Given the description of an element on the screen output the (x, y) to click on. 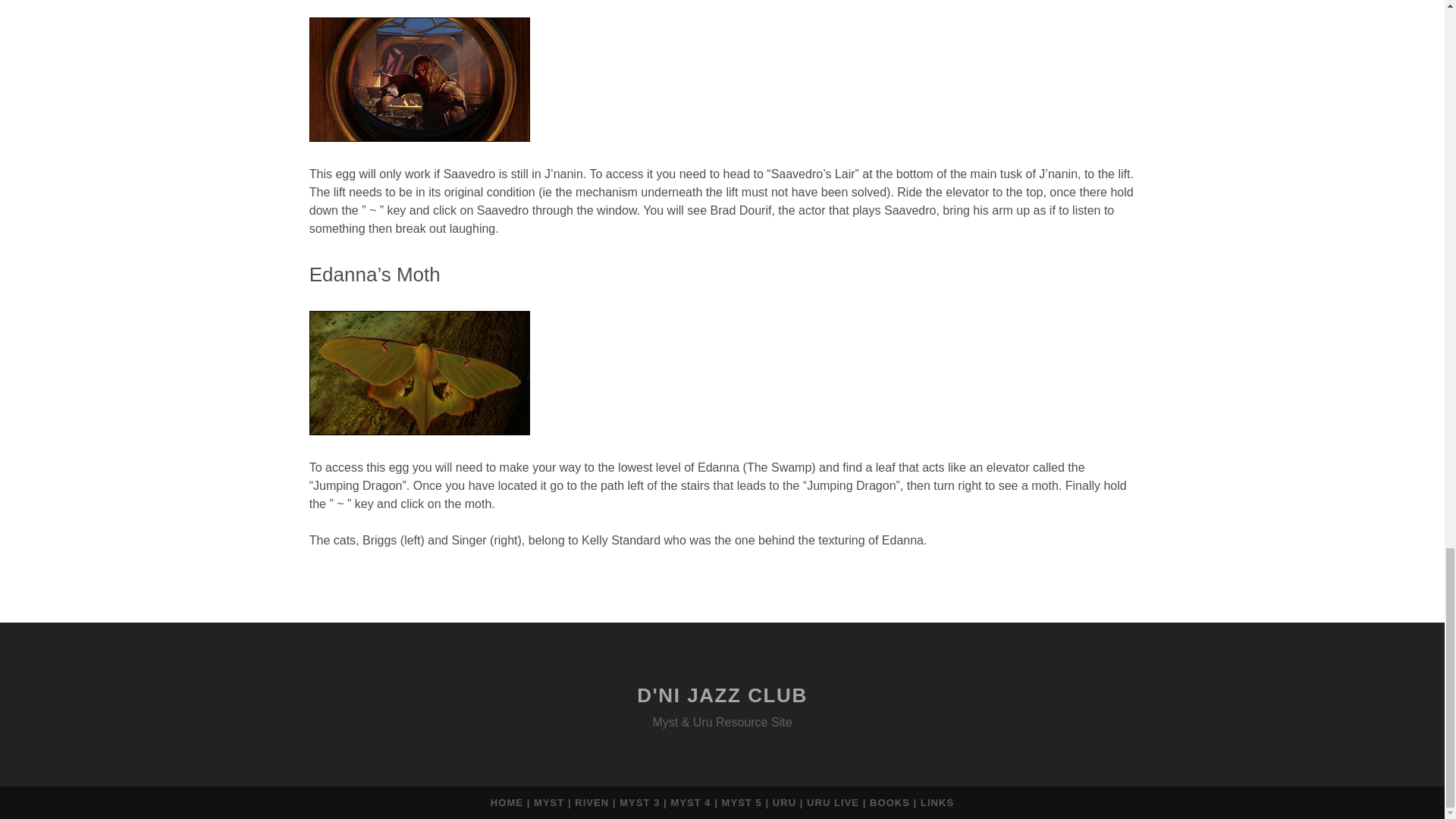
Riven (591, 802)
Uru Complete Chronicles (784, 802)
Home (506, 802)
Myst 3 Exile (639, 802)
Myst 4 Revelation (689, 802)
Myst 5 End of Ages (743, 802)
Community Links (936, 802)
Myst Online Uru Live (832, 802)
Myst (549, 802)
